Given the description of an element on the screen output the (x, y) to click on. 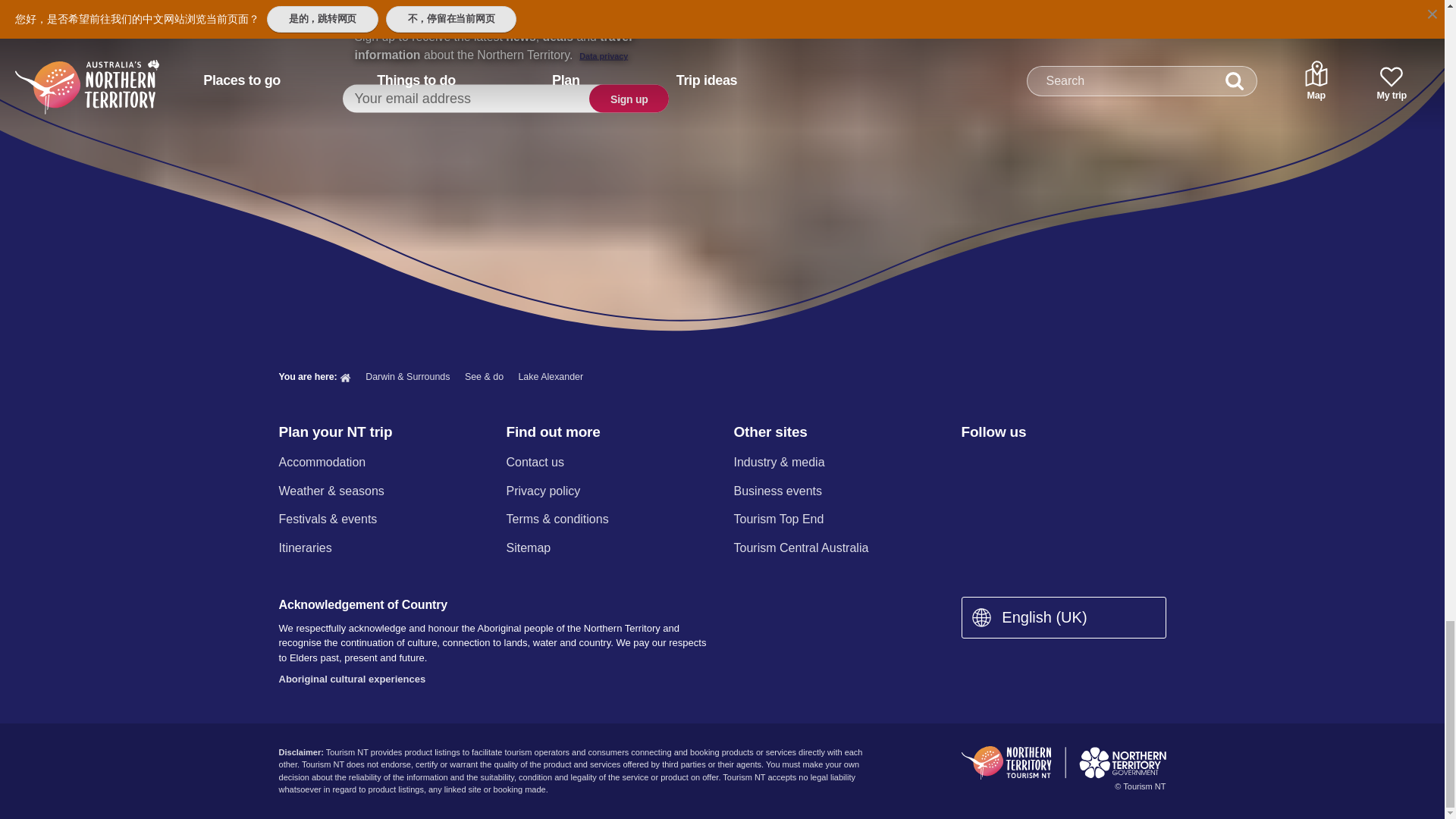
Twitter (1050, 463)
Instagram (1009, 463)
YouTube (1089, 463)
Facebook (970, 463)
Trip Advisor (1129, 463)
